Given the description of an element on the screen output the (x, y) to click on. 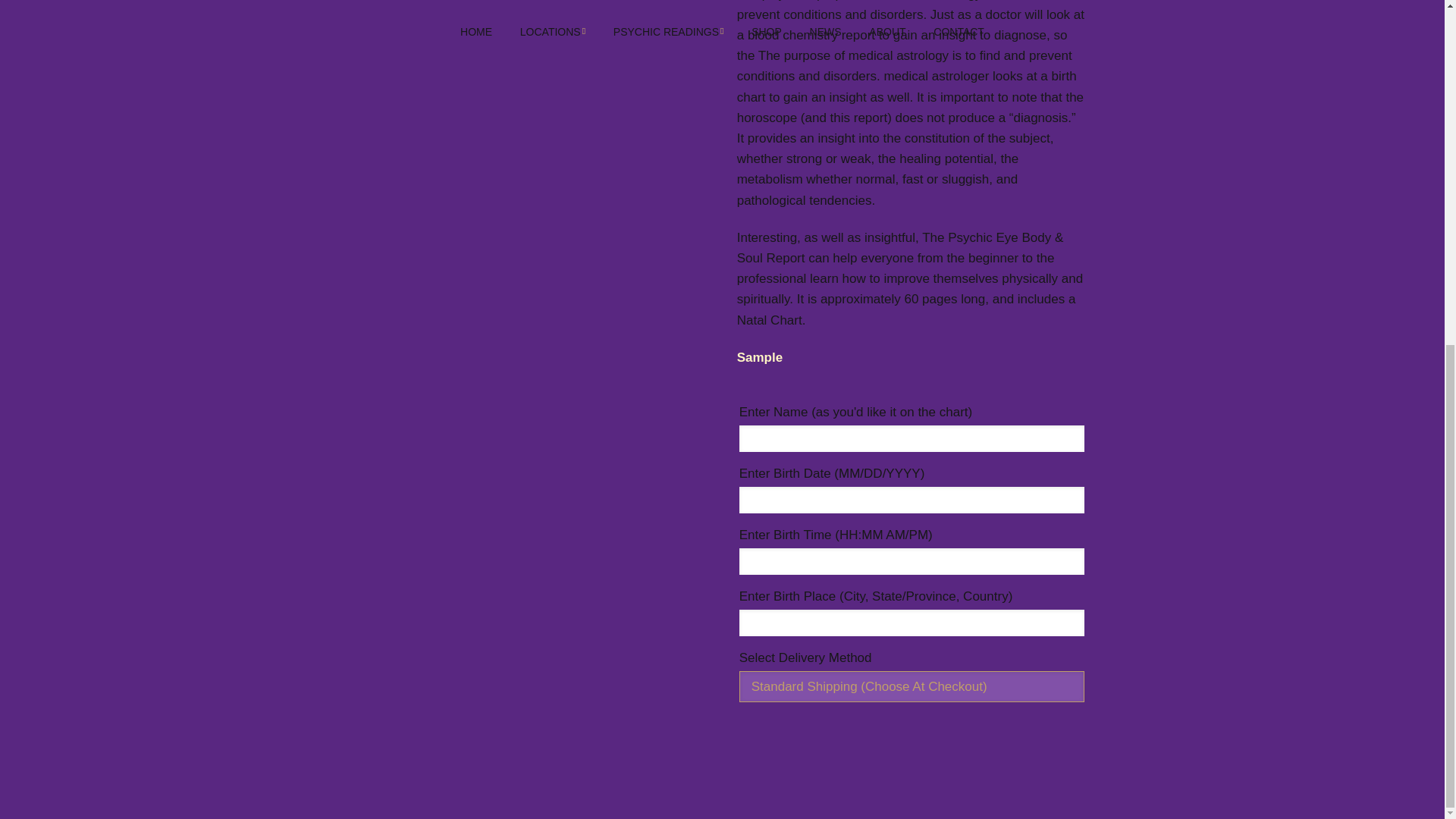
Sample (759, 357)
